Given the description of an element on the screen output the (x, y) to click on. 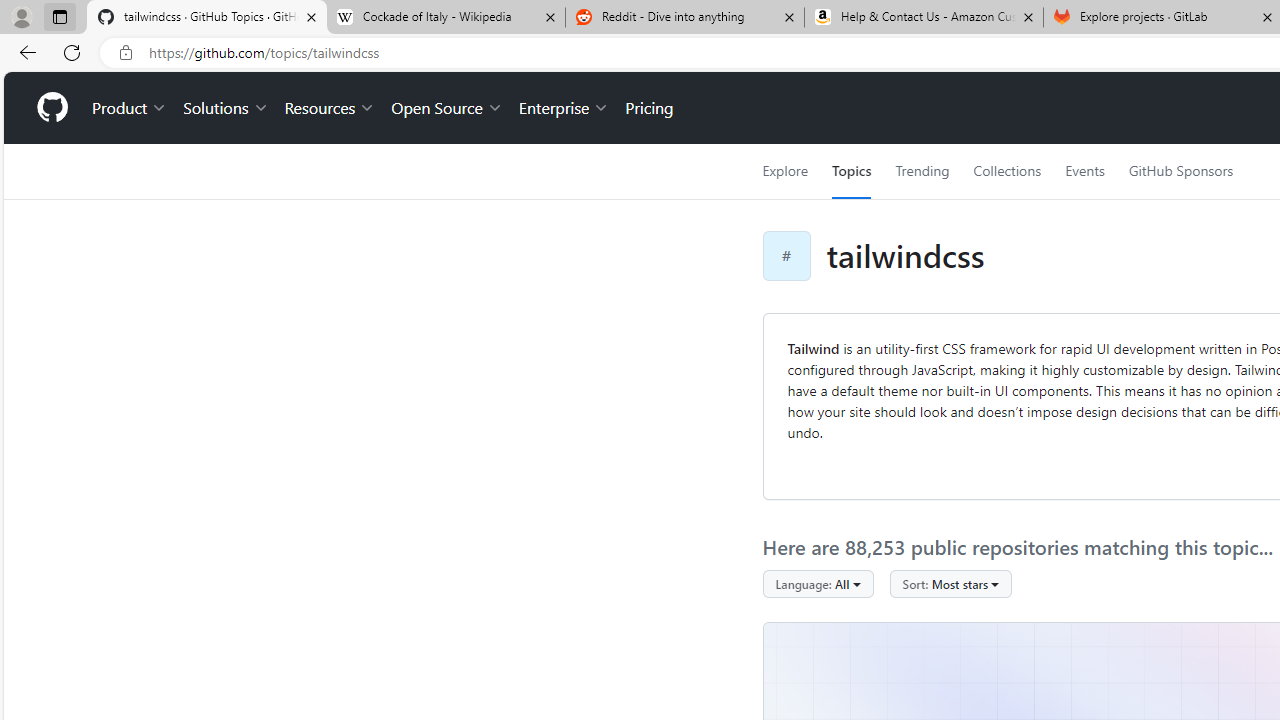
Cockade of Italy - Wikipedia (445, 17)
Language: All (817, 584)
Enterprise (563, 107)
Explore (784, 171)
Enterprise (563, 107)
Open Source (446, 107)
Solutions (225, 107)
Product (130, 107)
Events (1084, 171)
